Given the description of an element on the screen output the (x, y) to click on. 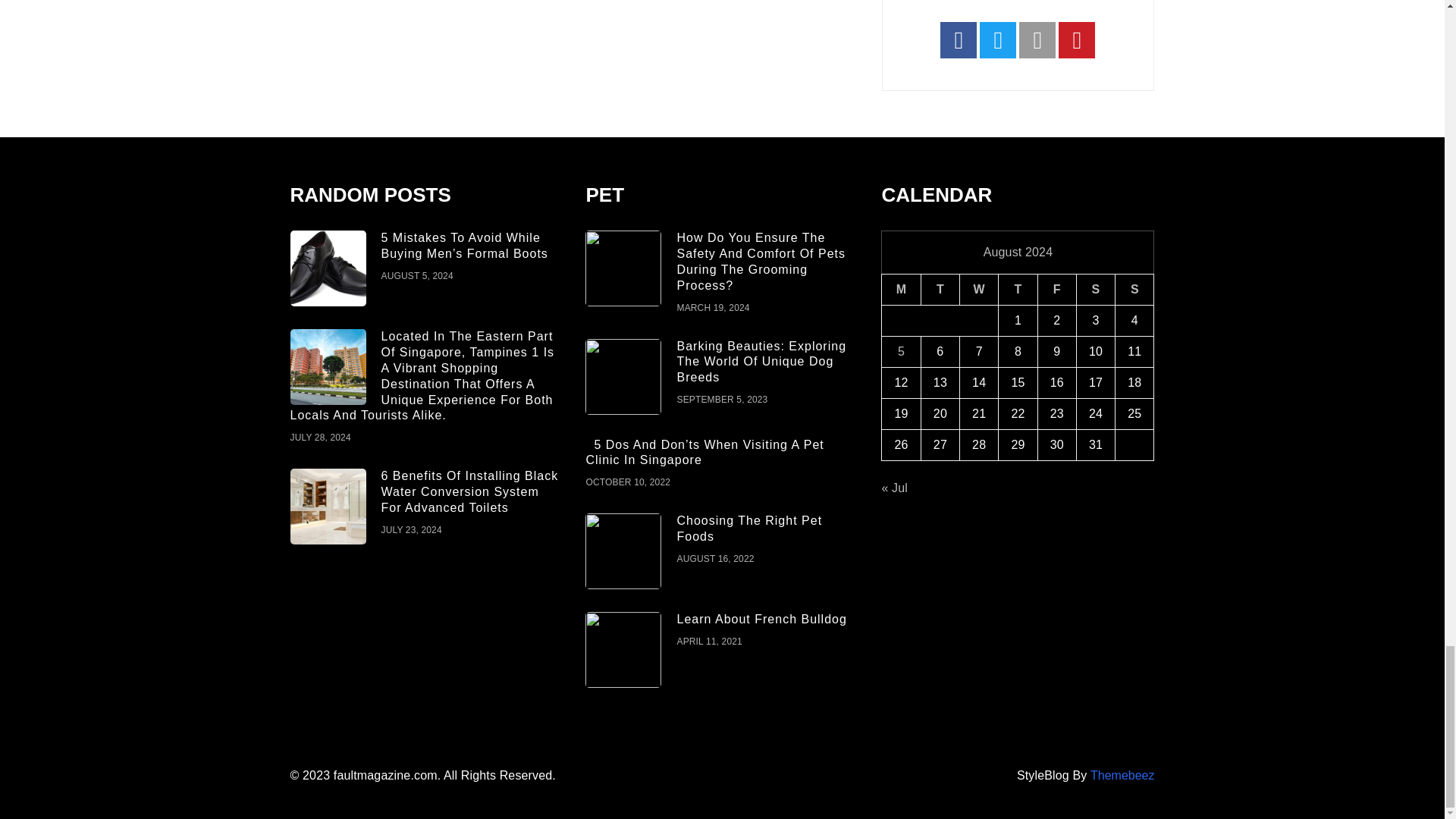
Friday (1055, 289)
Saturday (1095, 289)
LinkedIn (1037, 40)
Monday (901, 289)
Facebook (958, 40)
Twitter (997, 40)
Thursday (1017, 289)
Tuesday (939, 289)
Sunday (1134, 289)
Wednesday (978, 289)
Pinterest (1076, 40)
